Given the description of an element on the screen output the (x, y) to click on. 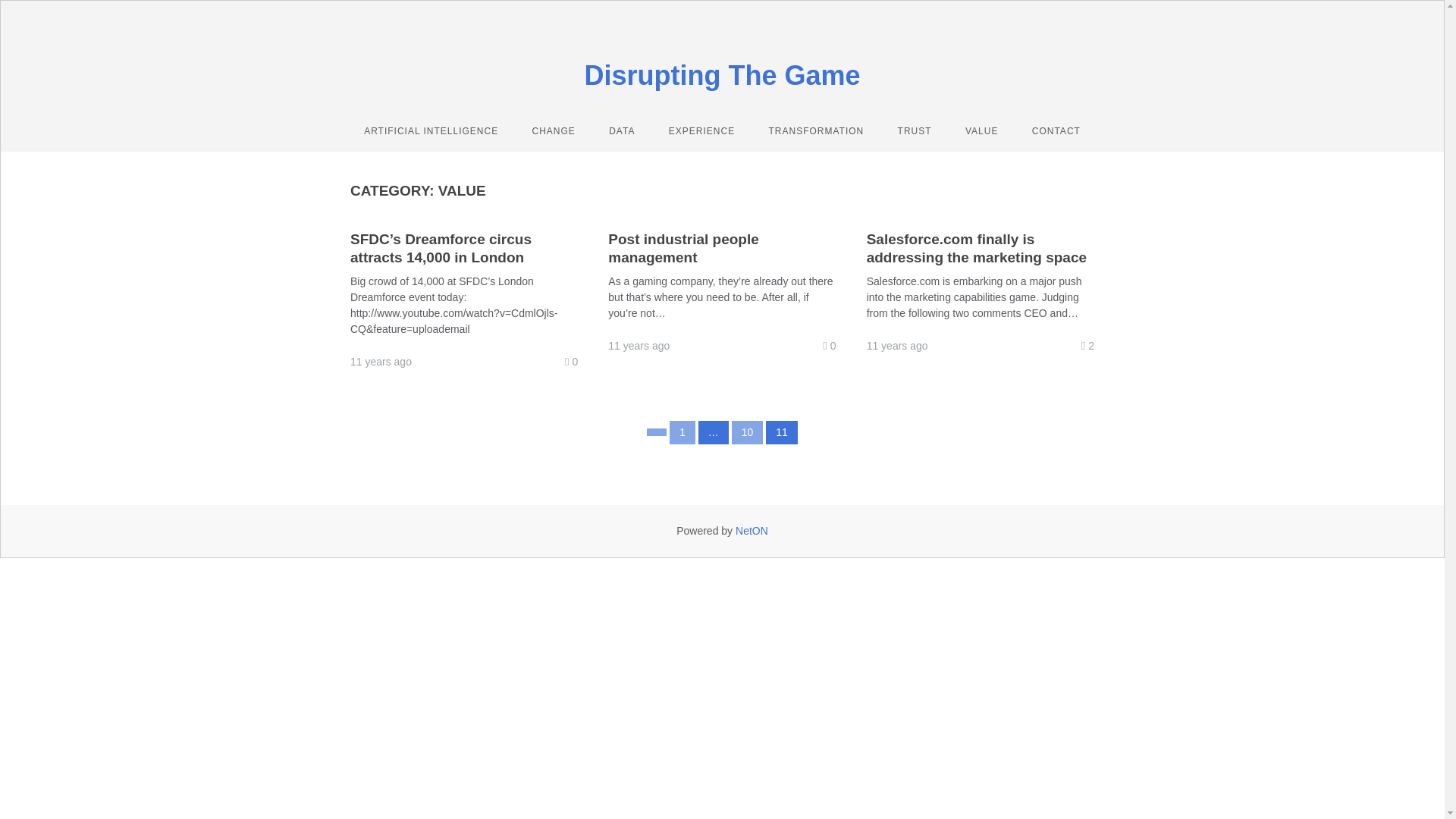
NetON Element type: text (751, 530)
0 Element type: text (570, 361)
2 Element type: text (1087, 345)
TRANSFORMATION Element type: text (815, 130)
DATA Element type: text (621, 130)
ARTIFICIAL INTELLIGENCE Element type: text (430, 130)
TRUST Element type: text (914, 130)
0 Element type: text (828, 345)
Salesforce.com finally is addressing the marketing space Element type: text (976, 248)
CHANGE Element type: text (553, 130)
VALUE Element type: text (981, 130)
1 Element type: text (682, 432)
10 Element type: text (747, 432)
CONTACT Element type: text (1055, 130)
Disrupting The Game Element type: text (721, 75)
EXPERIENCE Element type: text (701, 130)
Post industrial people management Element type: text (683, 248)
